Given the description of an element on the screen output the (x, y) to click on. 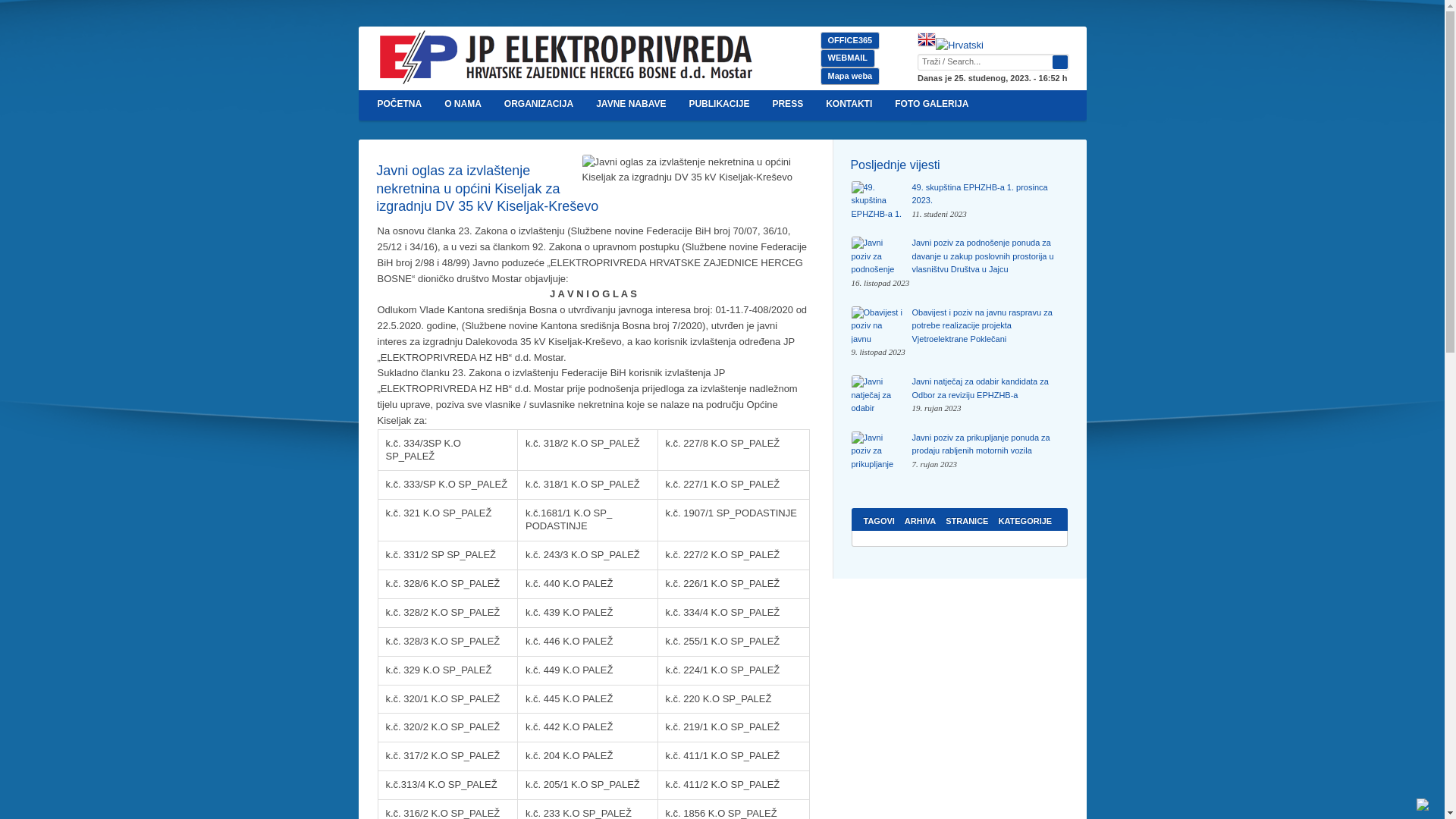
ORGANIZACIJA Element type: text (538, 105)
JAVNE NABAVE Element type: text (630, 105)
Mapa weba Element type: text (849, 75)
PUBLIKACIJE Element type: text (718, 105)
O NAMA Element type: text (462, 105)
Hrvatski Element type: hover (959, 45)
OFFICE365 Element type: text (849, 40)
PRESS Element type: text (787, 105)
WEBMAIL Element type: text (847, 57)
Idi na VRH Element type: hover (1428, 806)
FOTO GALERIJA Element type: text (931, 105)
English Element type: hover (926, 39)
KONTAKTI Element type: text (848, 105)
